Given the description of an element on the screen output the (x, y) to click on. 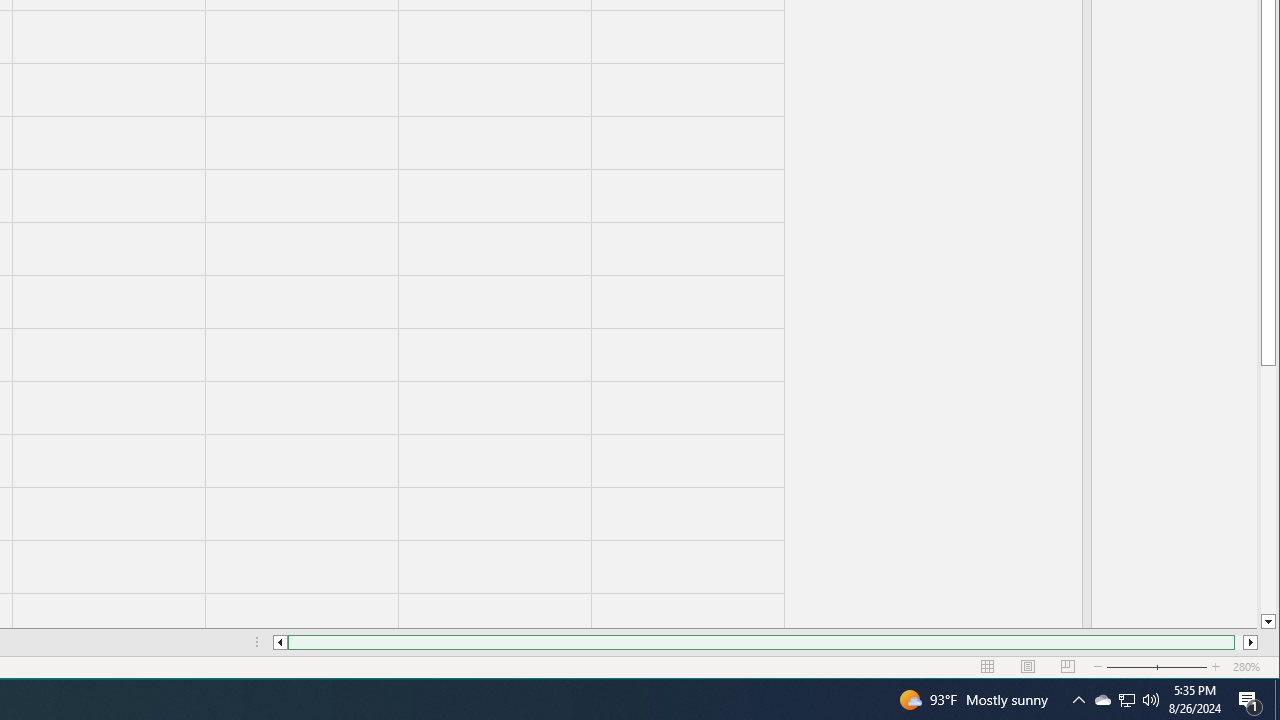
Show desktop (1277, 699)
Notification Chevron (1078, 699)
Action Center, 1 new notification (1250, 699)
Q2790: 100% (1151, 699)
